Given the description of an element on the screen output the (x, y) to click on. 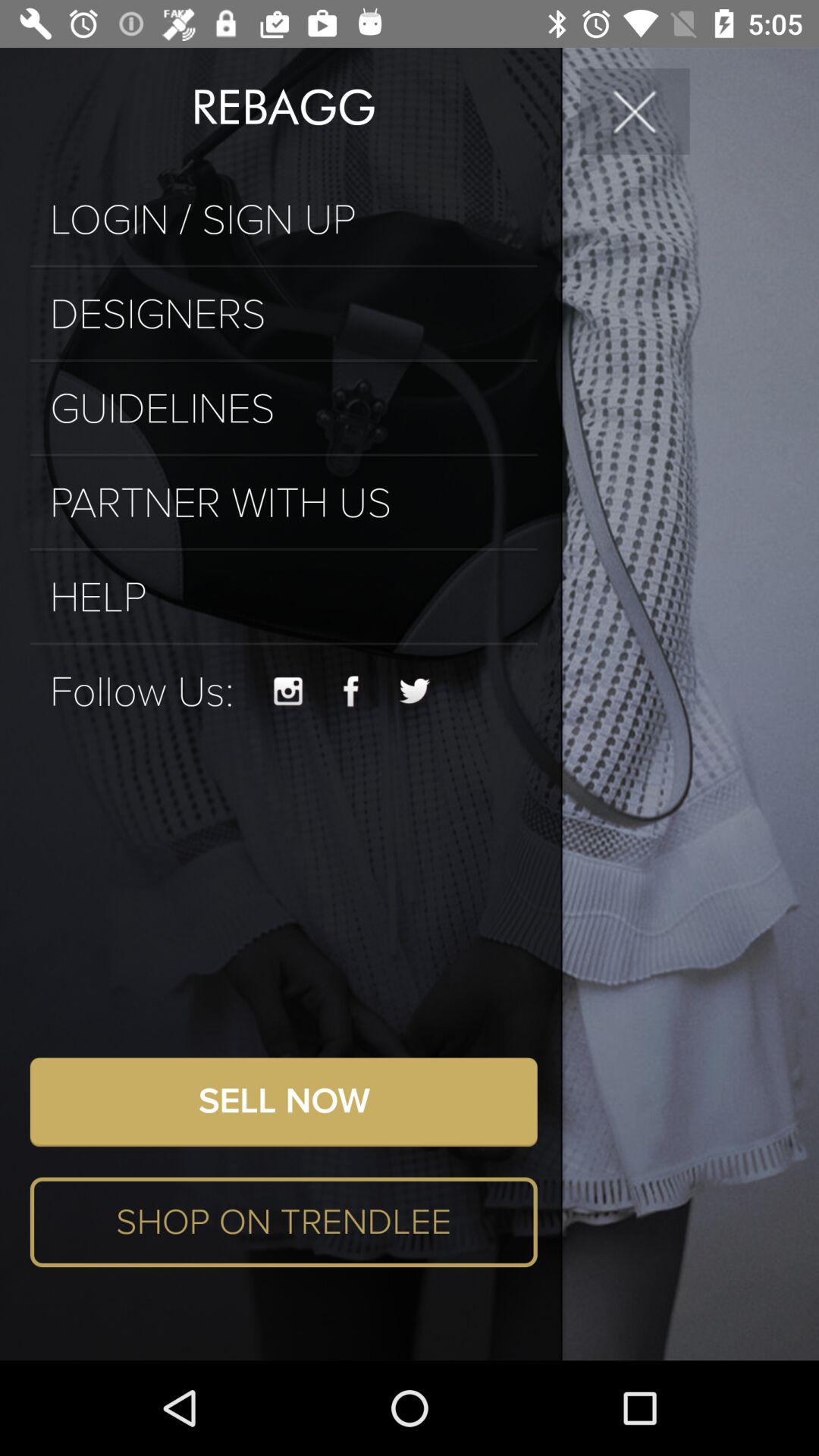
open the item next to follow us: (288, 691)
